Given the description of an element on the screen output the (x, y) to click on. 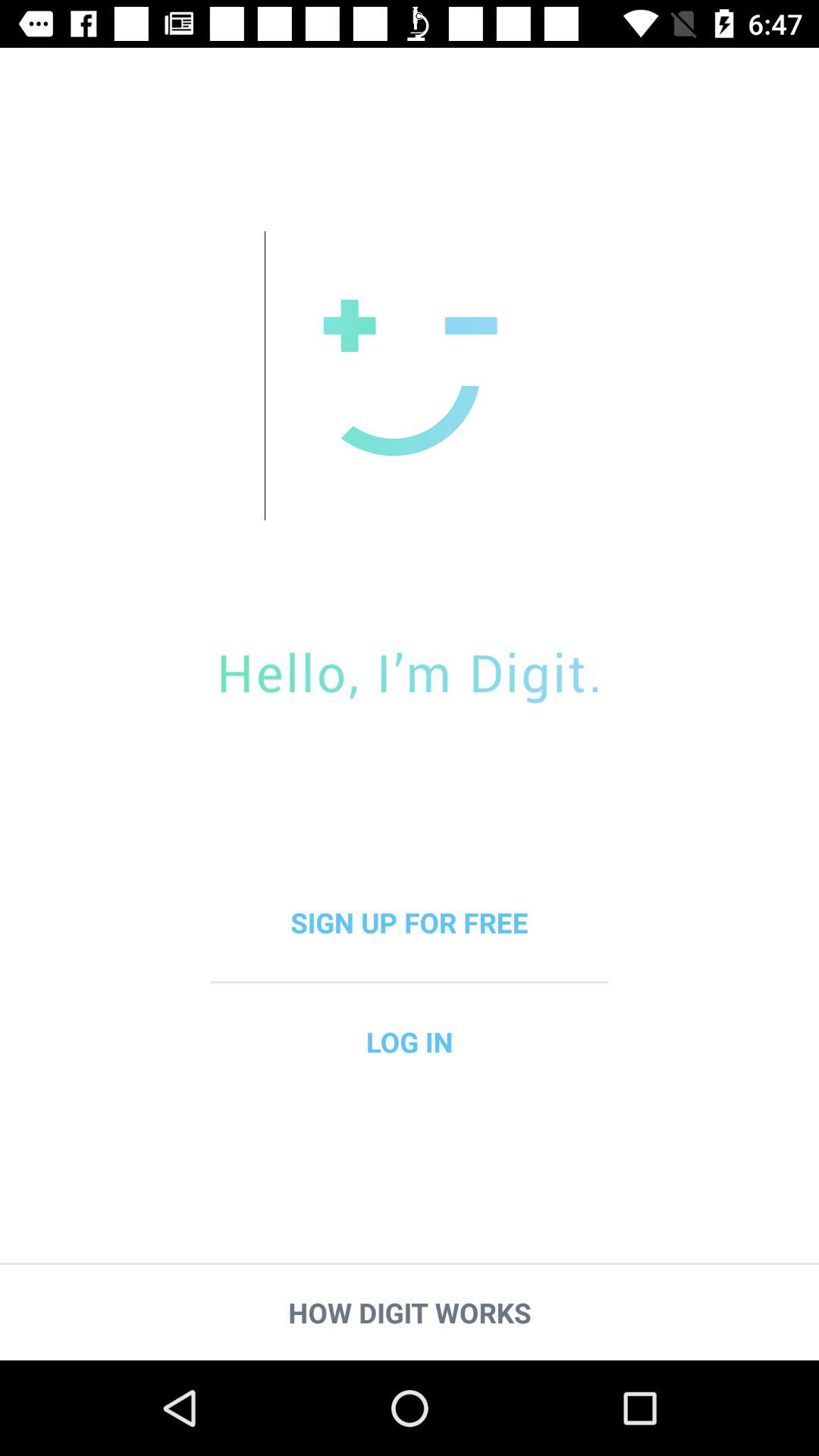
open how digit works item (409, 1312)
